Given the description of an element on the screen output the (x, y) to click on. 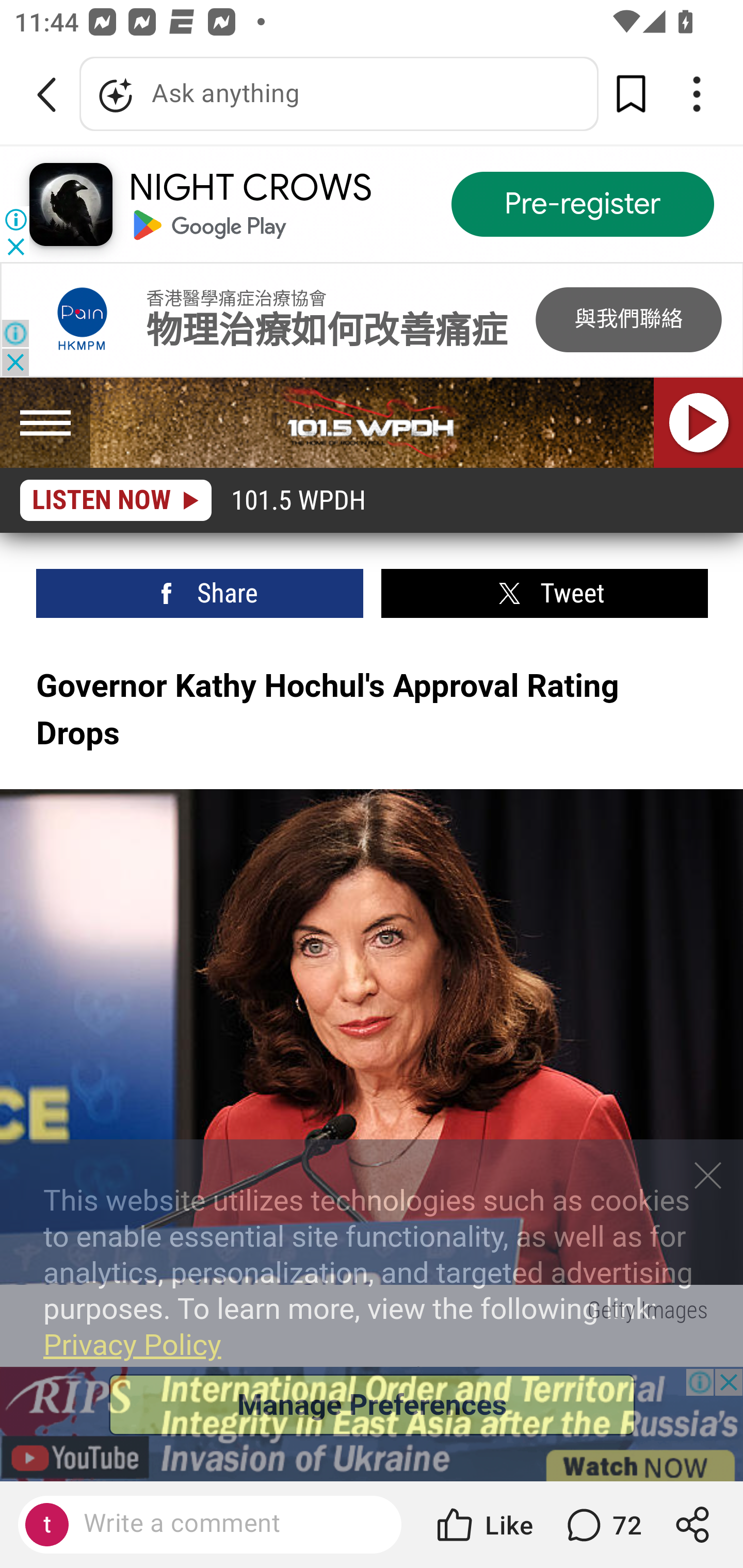
Ask anything (338, 93)
NIGHT CROWS (250, 187)
Pre-register (582, 205)
香港醫學痛症治療協會 (236, 299)
與我們聯絡 (628, 321)
物理治療如何改善痛症 (326, 332)
101.5 WPDH (371, 422)
Listen Now (698, 422)
Share (200, 594)
Tweet (543, 594)
Close this dialog (708, 1175)
Privacy Policy (132, 1345)
Manage Preferences (372, 1404)
Like (483, 1524)
72 (601, 1524)
Write a comment (226, 1523)
